Given the description of an element on the screen output the (x, y) to click on. 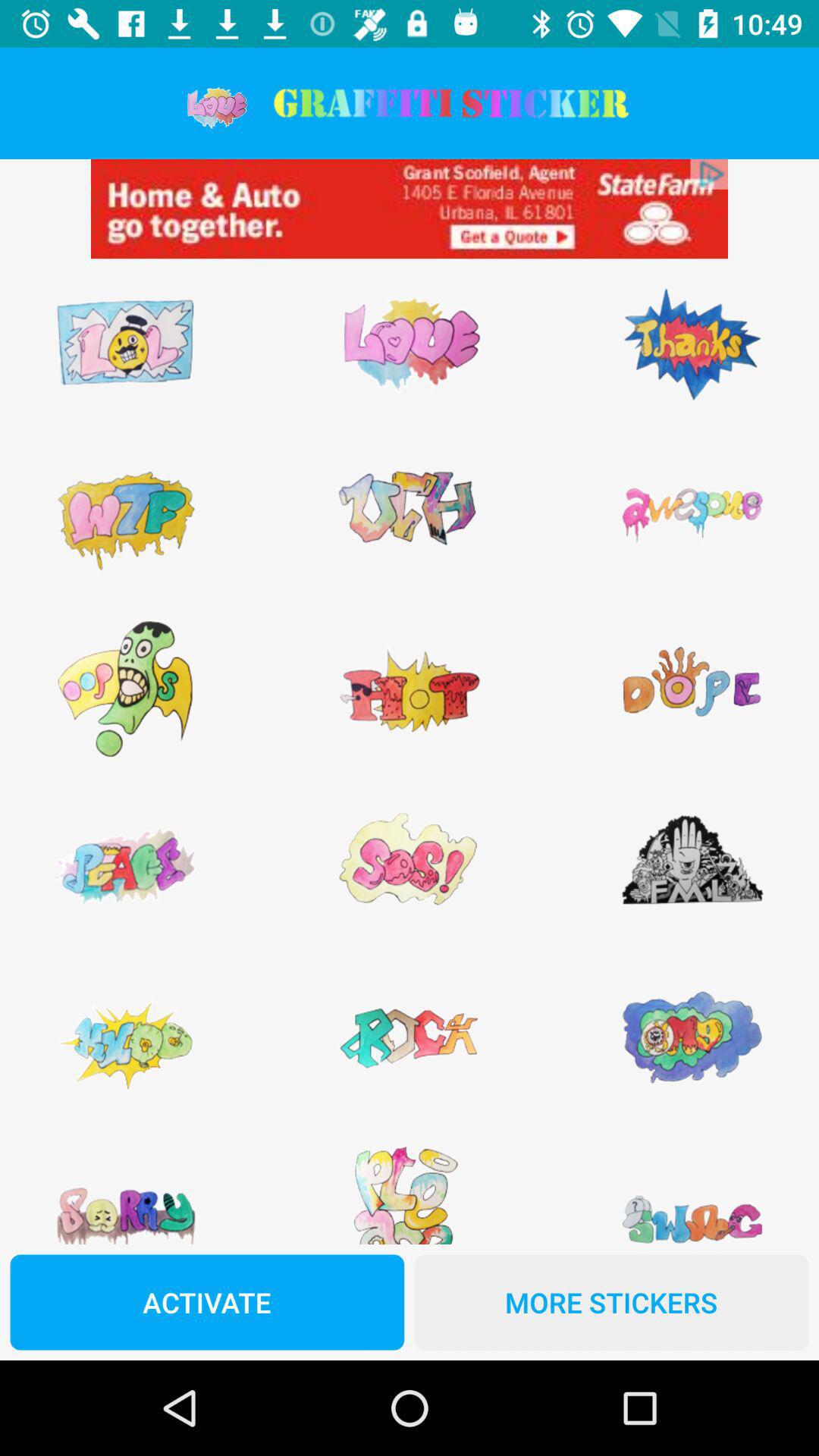
click to view advertisement (409, 208)
